Given the description of an element on the screen output the (x, y) to click on. 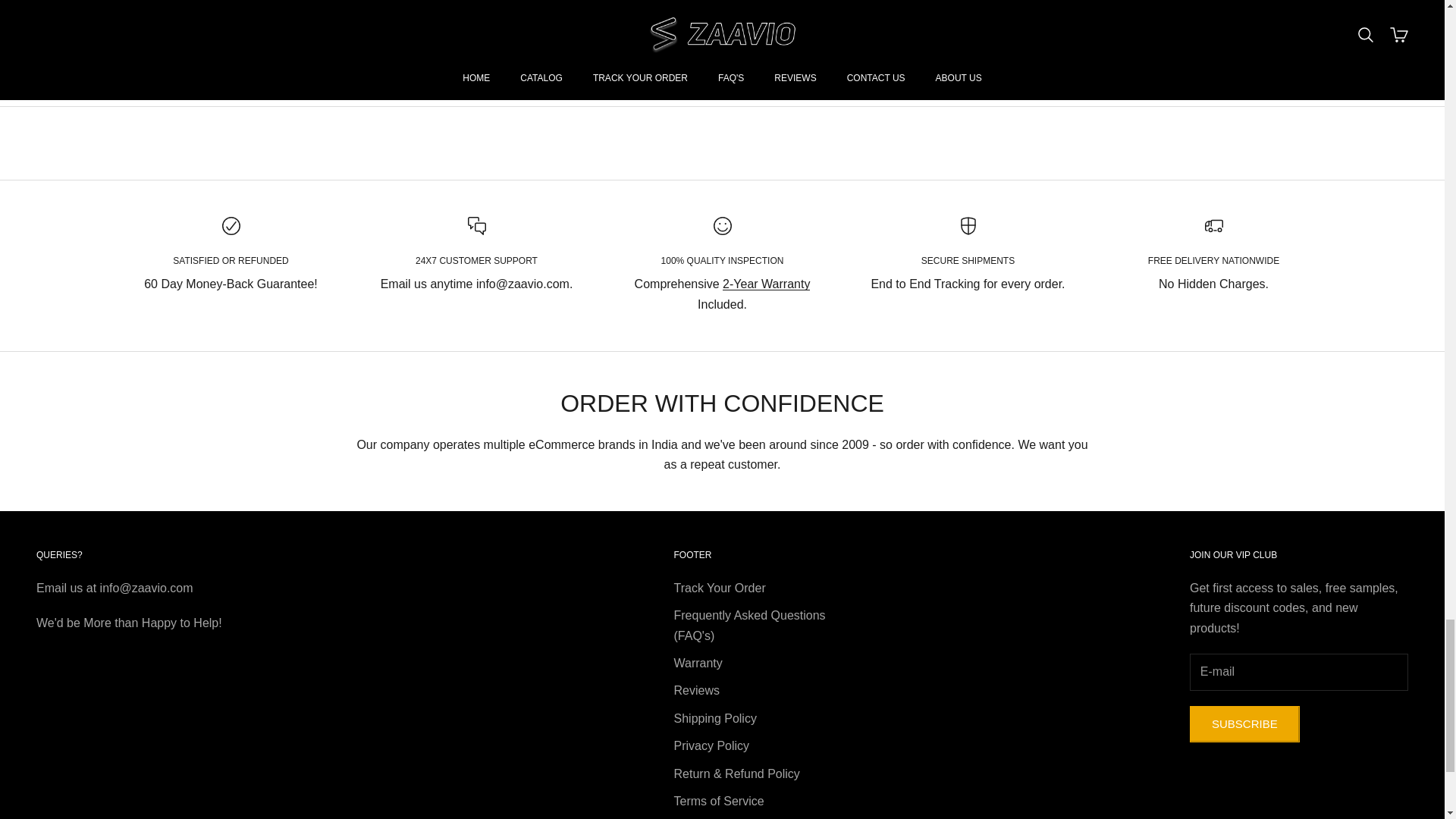
Warranty (765, 283)
2-Year Warranty (534, 34)
Warranty (765, 283)
Track Your Order (697, 662)
